Given the description of an element on the screen output the (x, y) to click on. 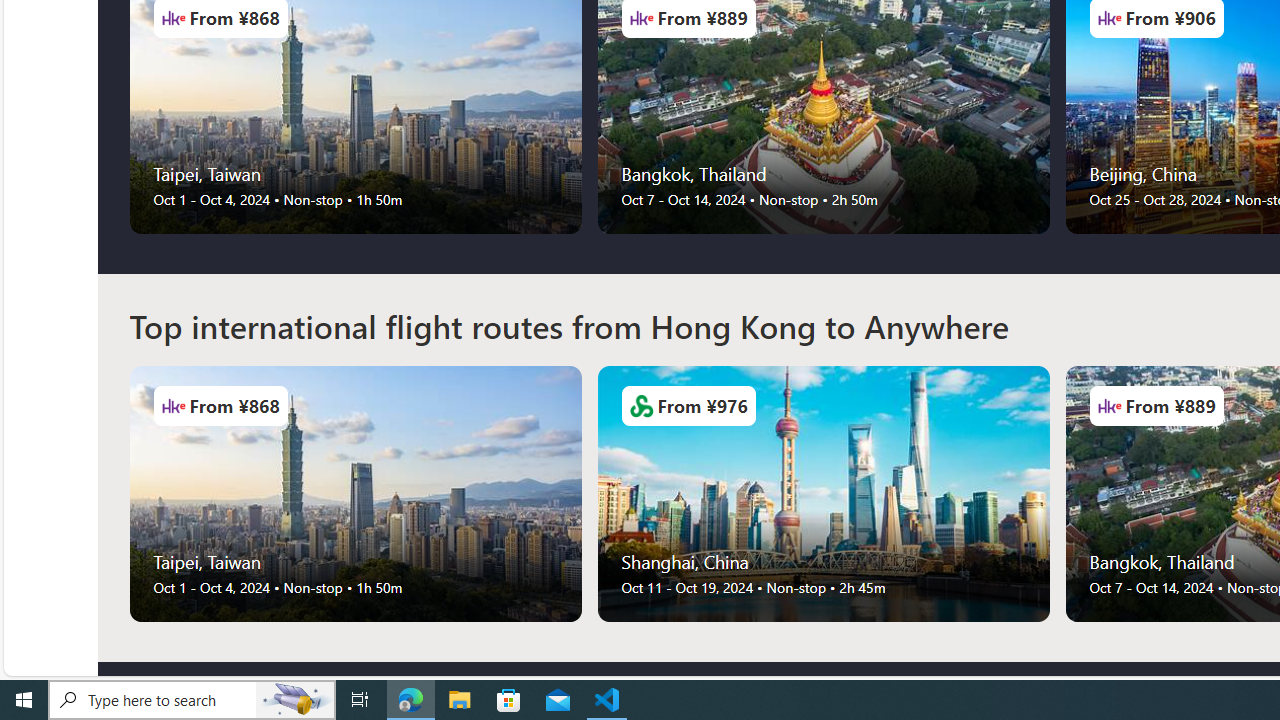
Airlines Logo (1109, 405)
